Given the description of an element on the screen output the (x, y) to click on. 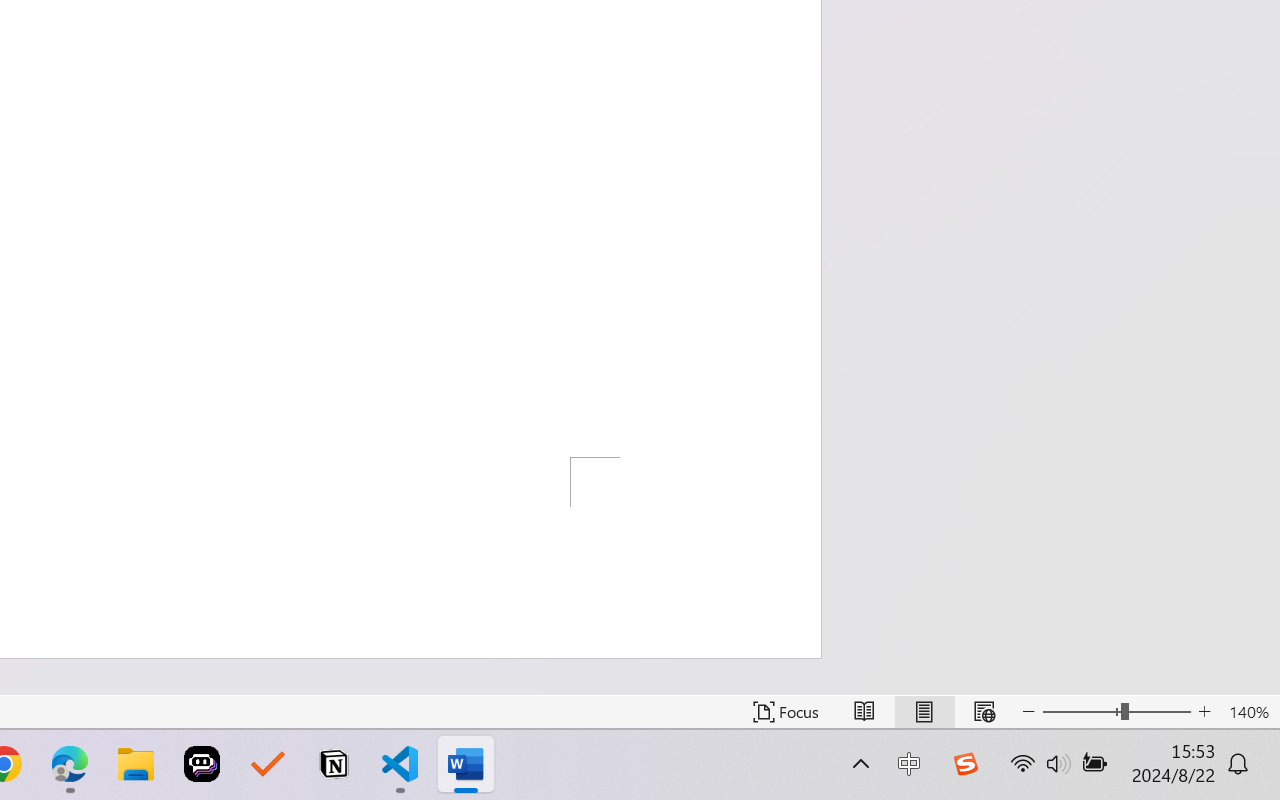
Zoom Out (1081, 712)
Zoom (1116, 712)
Zoom 140% (1249, 712)
Read Mode (864, 712)
Notion (333, 764)
Print Layout (924, 712)
Class: Image (965, 764)
